Given the description of an element on the screen output the (x, y) to click on. 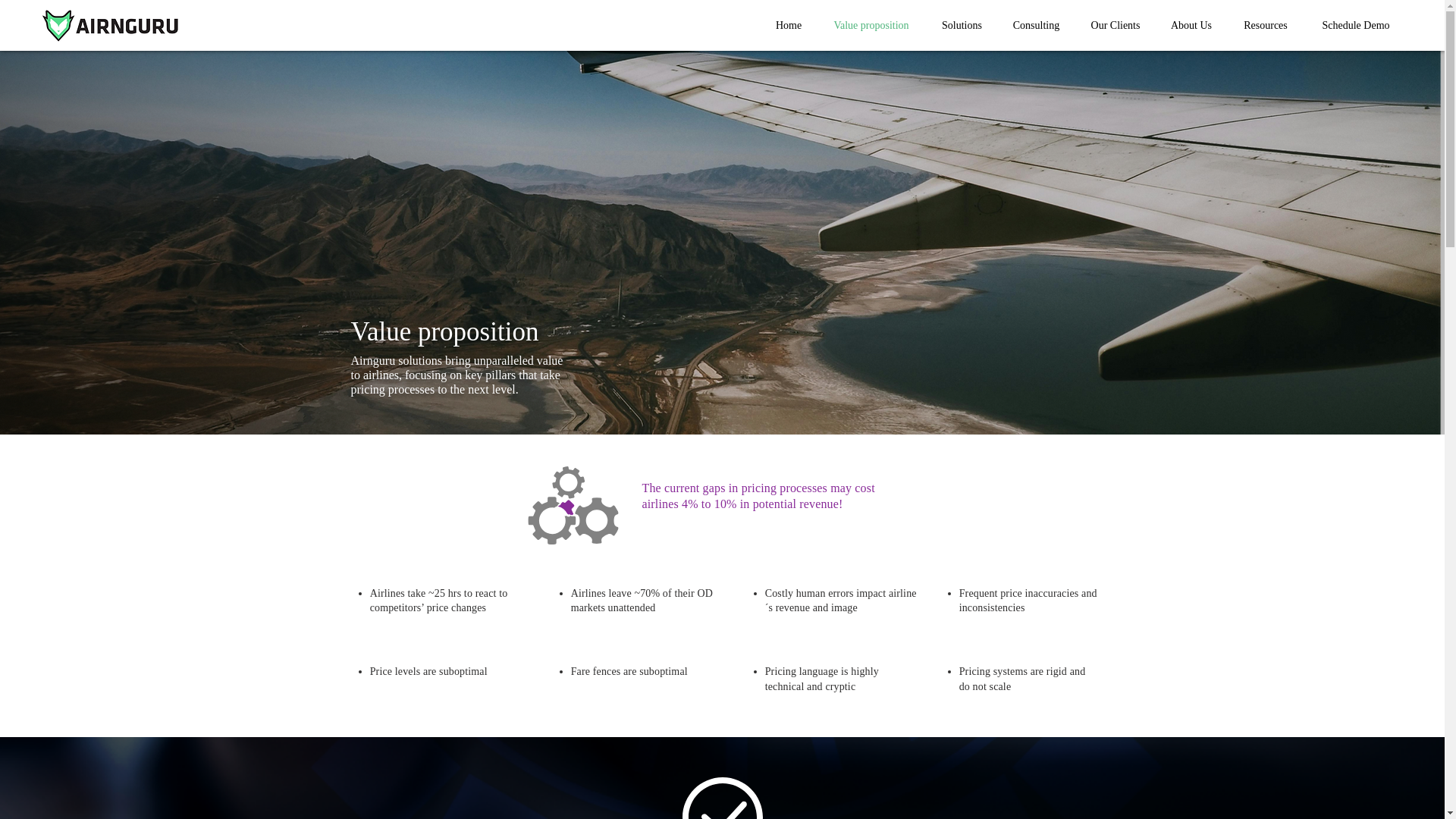
Consulting (1036, 25)
About Us (1191, 25)
Home (788, 25)
Value proposition (870, 25)
Our Clients (1115, 25)
Solutions (961, 25)
Schedule Demo (1355, 25)
